Given the description of an element on the screen output the (x, y) to click on. 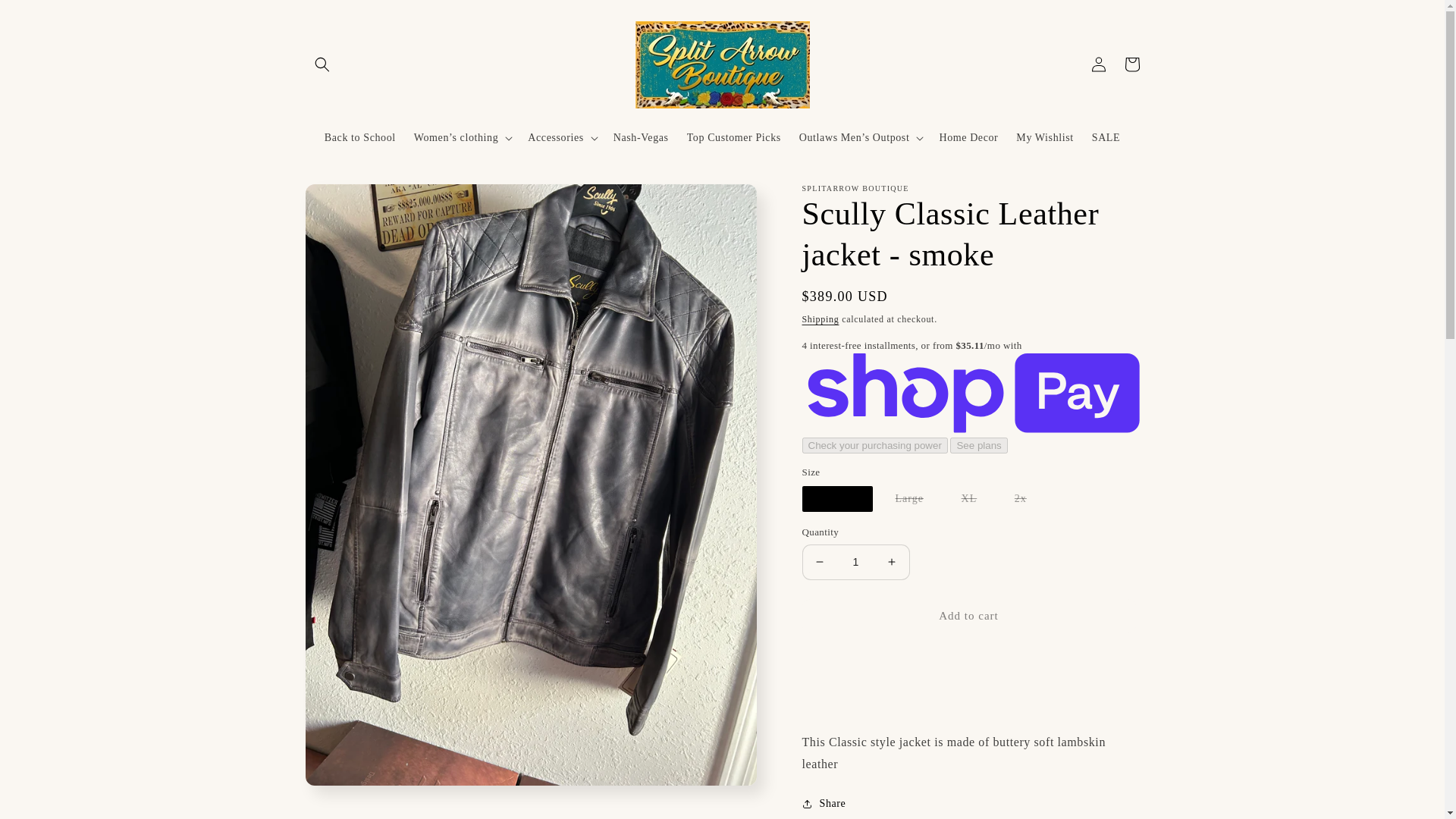
Skip to content (45, 16)
1 (856, 561)
Back to School (359, 137)
